Given the description of an element on the screen output the (x, y) to click on. 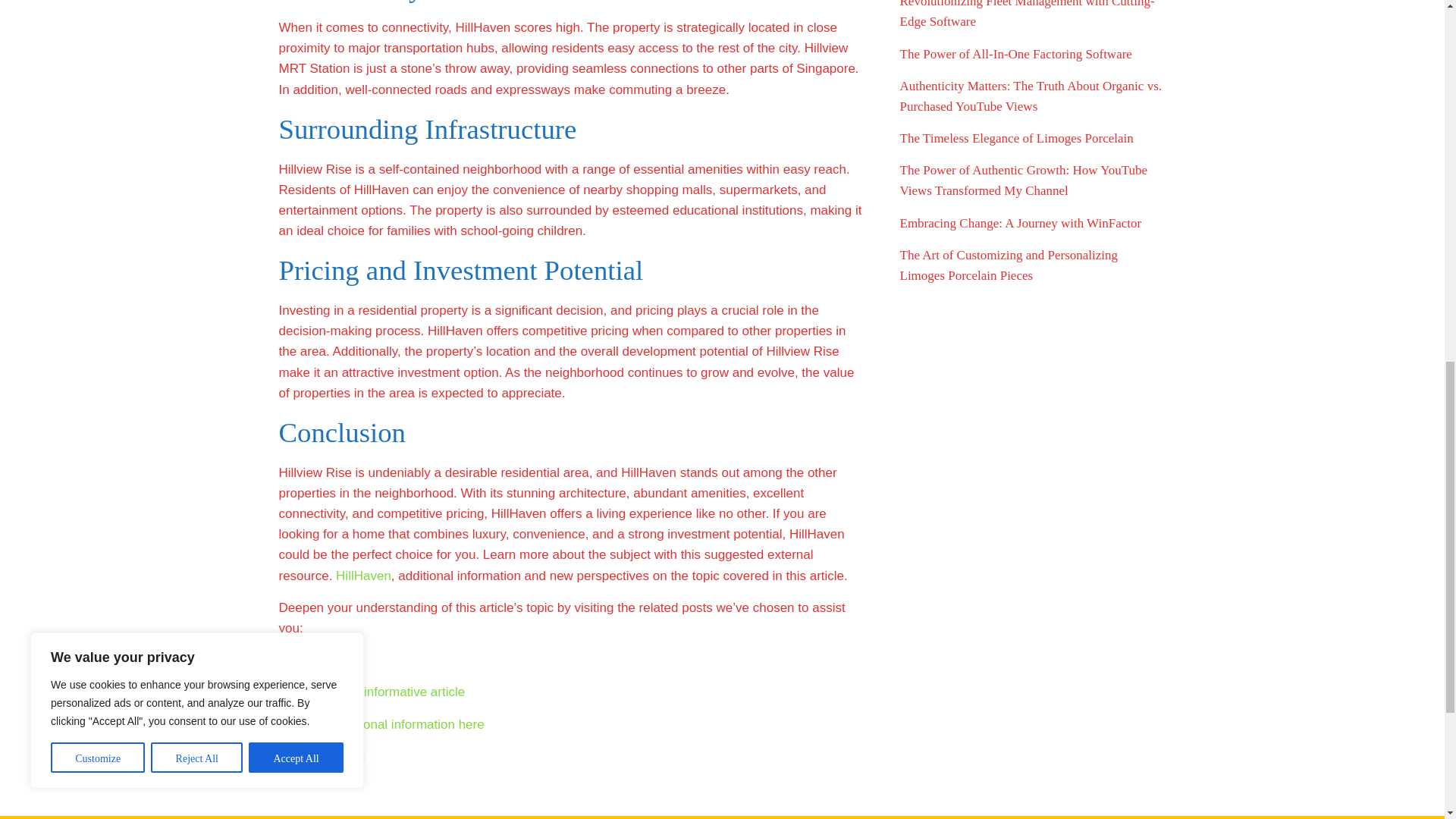
Discover additional information here (381, 724)
The Power of All-In-One Factoring Software (1015, 53)
Investigate this (322, 756)
Revolutionizing Fleet Management with Cutting-Edge Software (1026, 14)
HillHaven (363, 575)
See examples (320, 659)
Check out this informative article (372, 691)
